Given the description of an element on the screen output the (x, y) to click on. 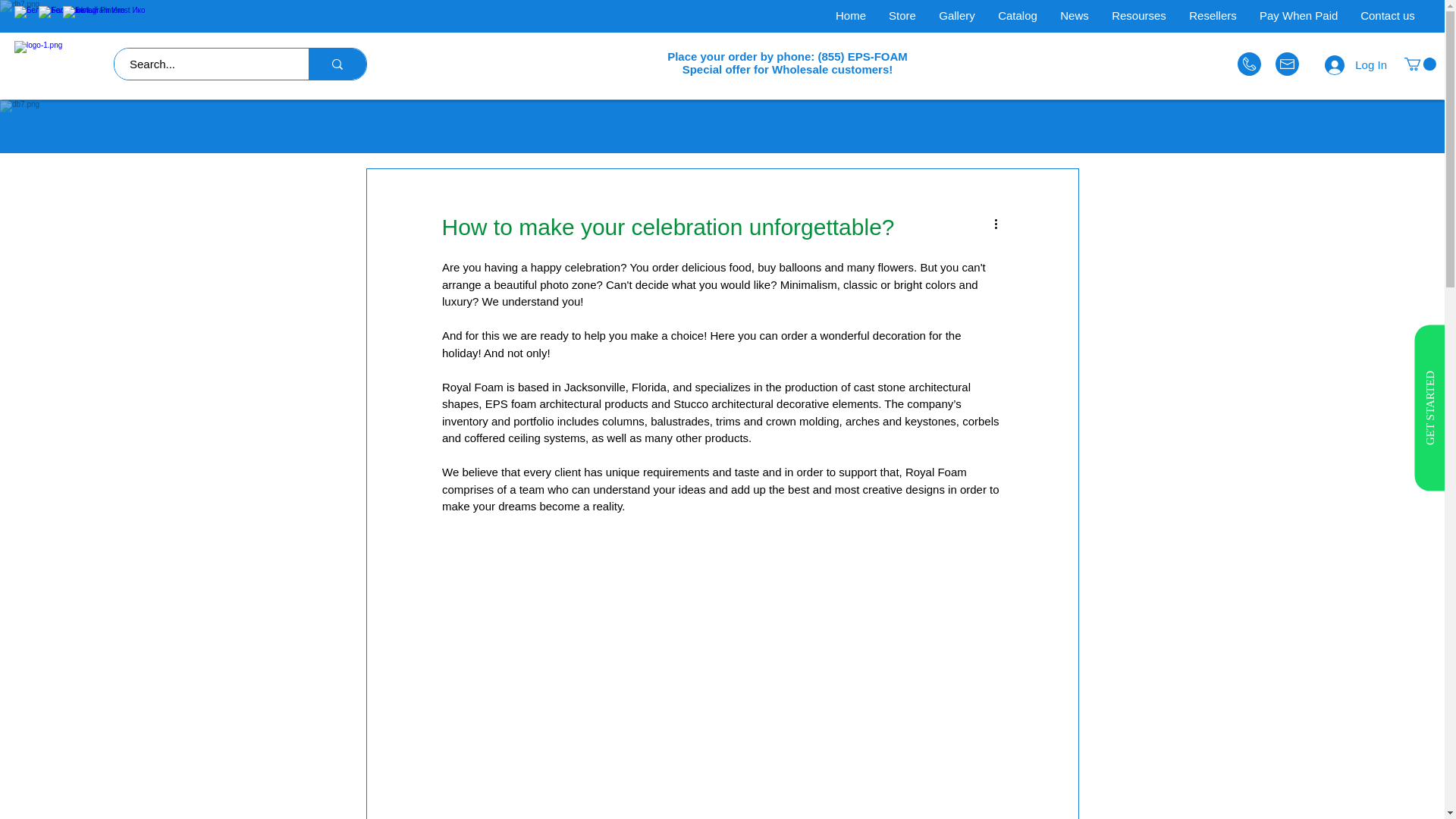
Home (850, 15)
Log In (1355, 63)
Pay When Paid (1298, 15)
News (1074, 15)
Store (902, 15)
Catalog (1017, 15)
Resellers (1212, 15)
Resourses (1138, 15)
Gallery (957, 15)
Contact us (1387, 15)
